Given the description of an element on the screen output the (x, y) to click on. 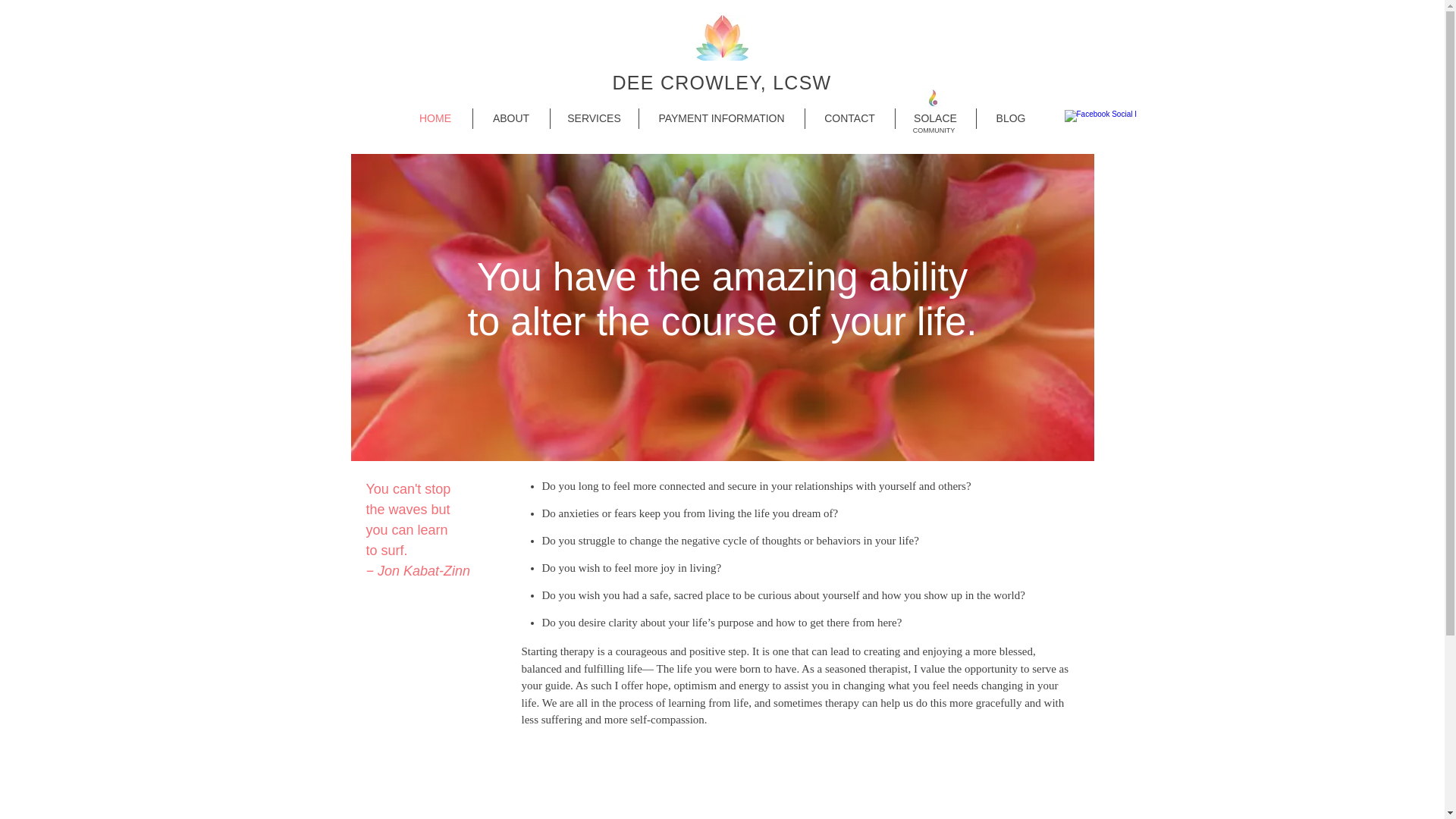
PAYMENT INFORMATION (721, 118)
SERVICES (594, 118)
BLOG (1010, 118)
ABOUT (511, 118)
CONTACT (850, 118)
SOLACE (935, 118)
HOME (434, 118)
